Given the description of an element on the screen output the (x, y) to click on. 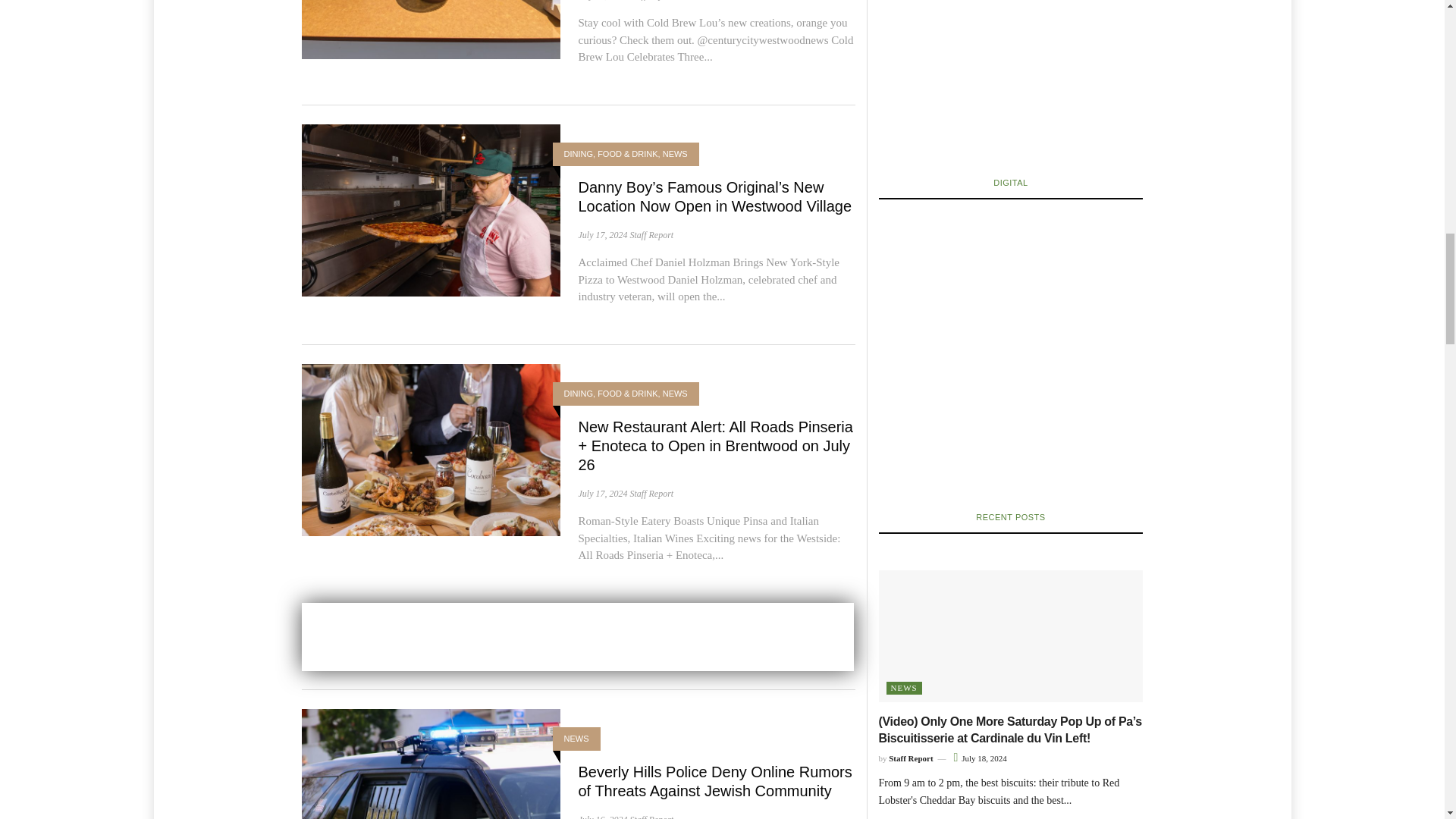
Posts by Staff Report (650, 493)
Posts by Staff Report (650, 235)
Posts by Staff Report (650, 0)
